Given the description of an element on the screen output the (x, y) to click on. 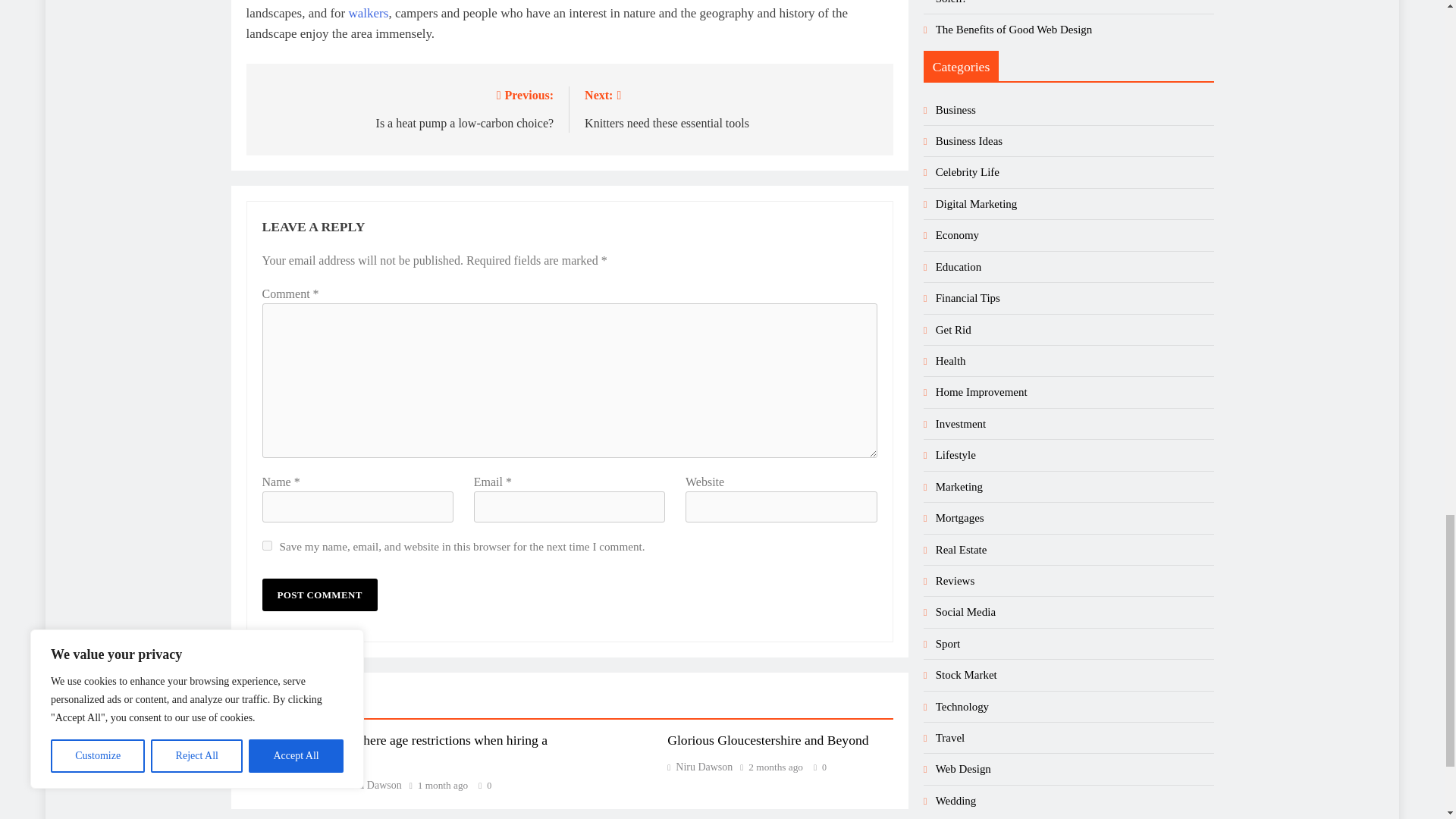
yes (267, 545)
Post Comment (319, 594)
